Given the description of an element on the screen output the (x, y) to click on. 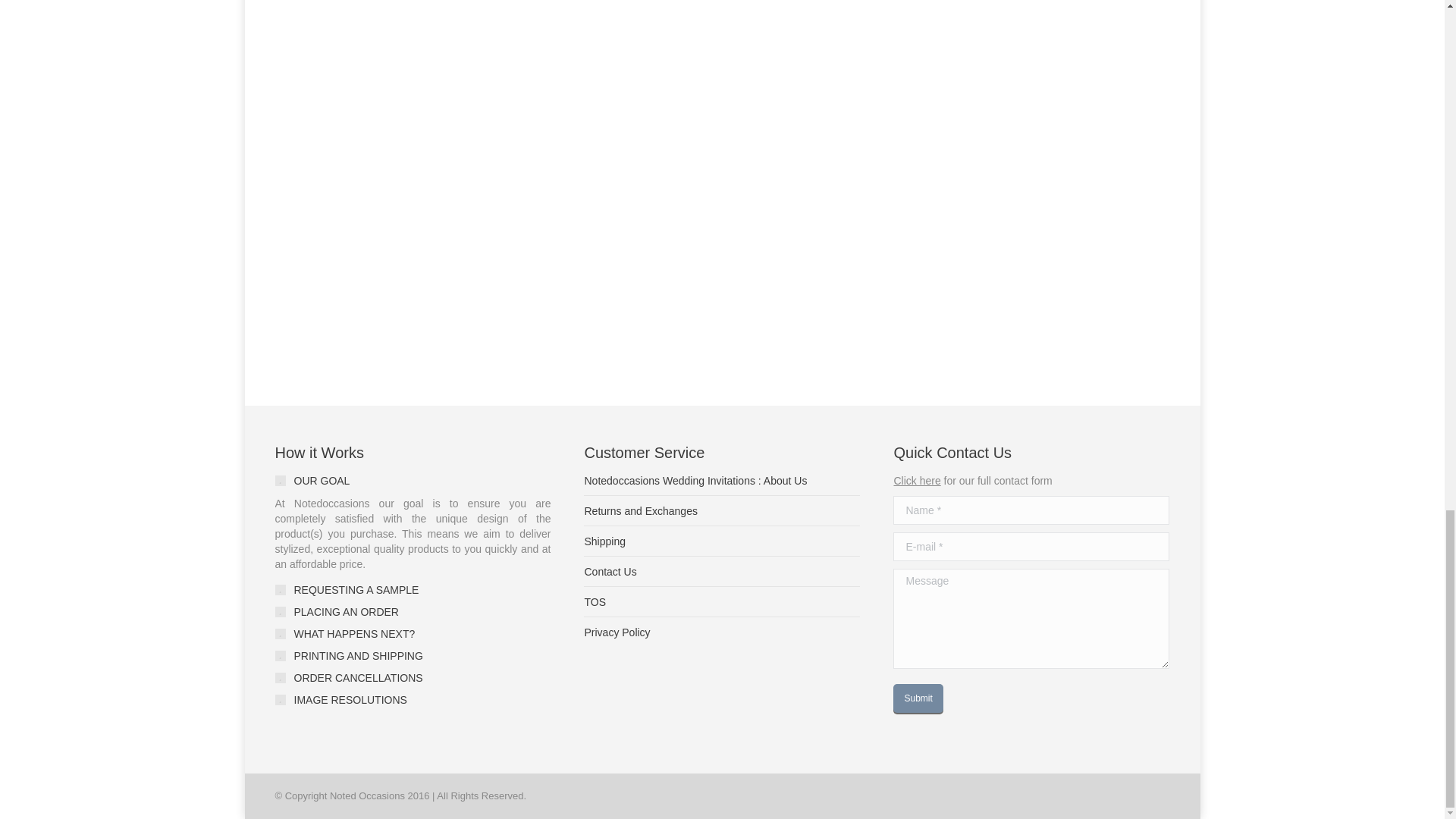
submit (967, 699)
